Given the description of an element on the screen output the (x, y) to click on. 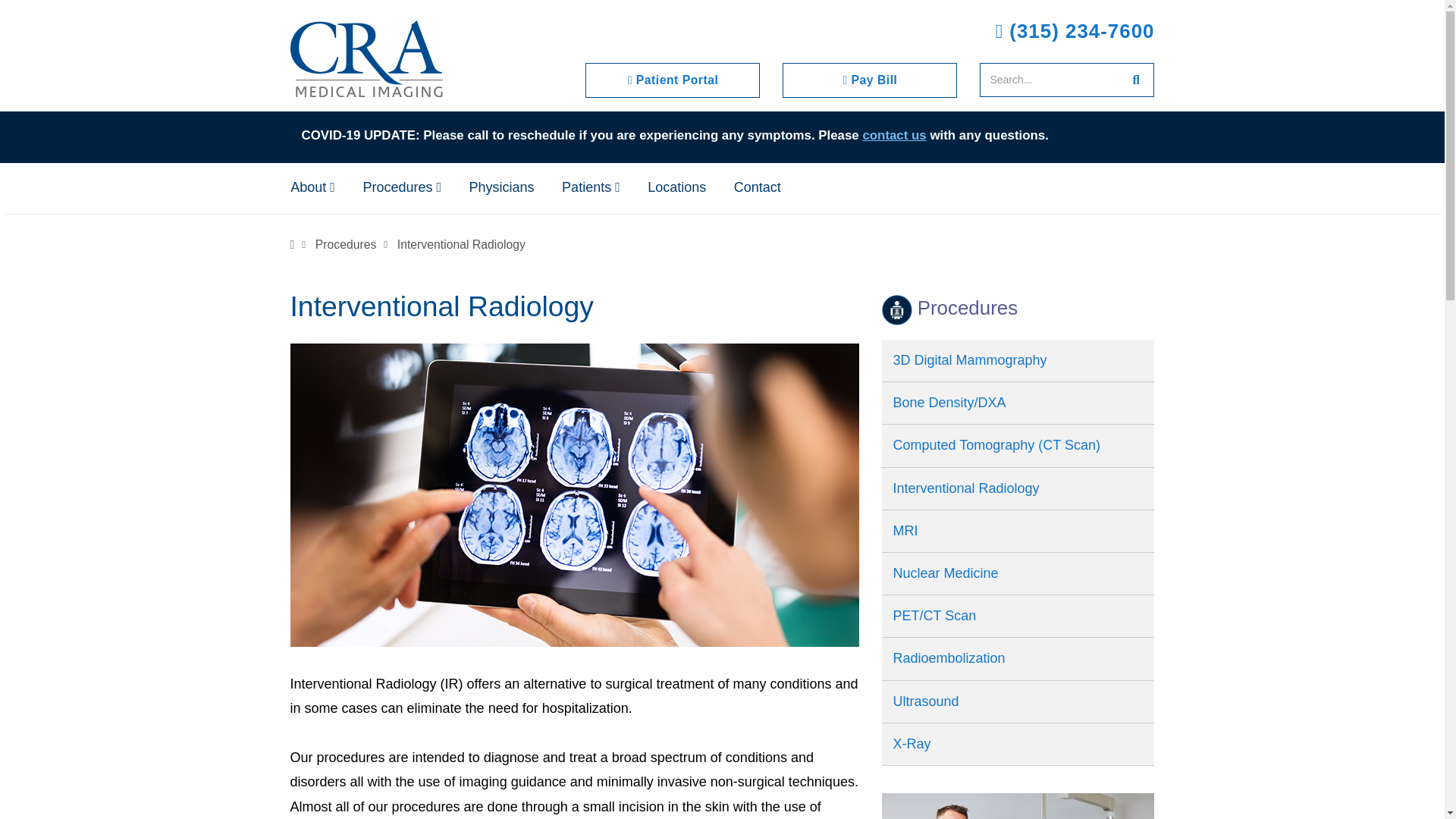
Contact (757, 187)
Radioembolization (1017, 658)
X-Ray (1017, 743)
Procedures (346, 244)
Patient Portal (672, 80)
contact us (893, 134)
Interventional Radiology (461, 244)
Physicians (1017, 806)
Procedures (401, 187)
Nuclear Medicine (1017, 573)
Home (291, 244)
Ultrasound (1017, 701)
Interventional Radiology (1017, 488)
Contact (893, 134)
Patients (590, 187)
